Given the description of an element on the screen output the (x, y) to click on. 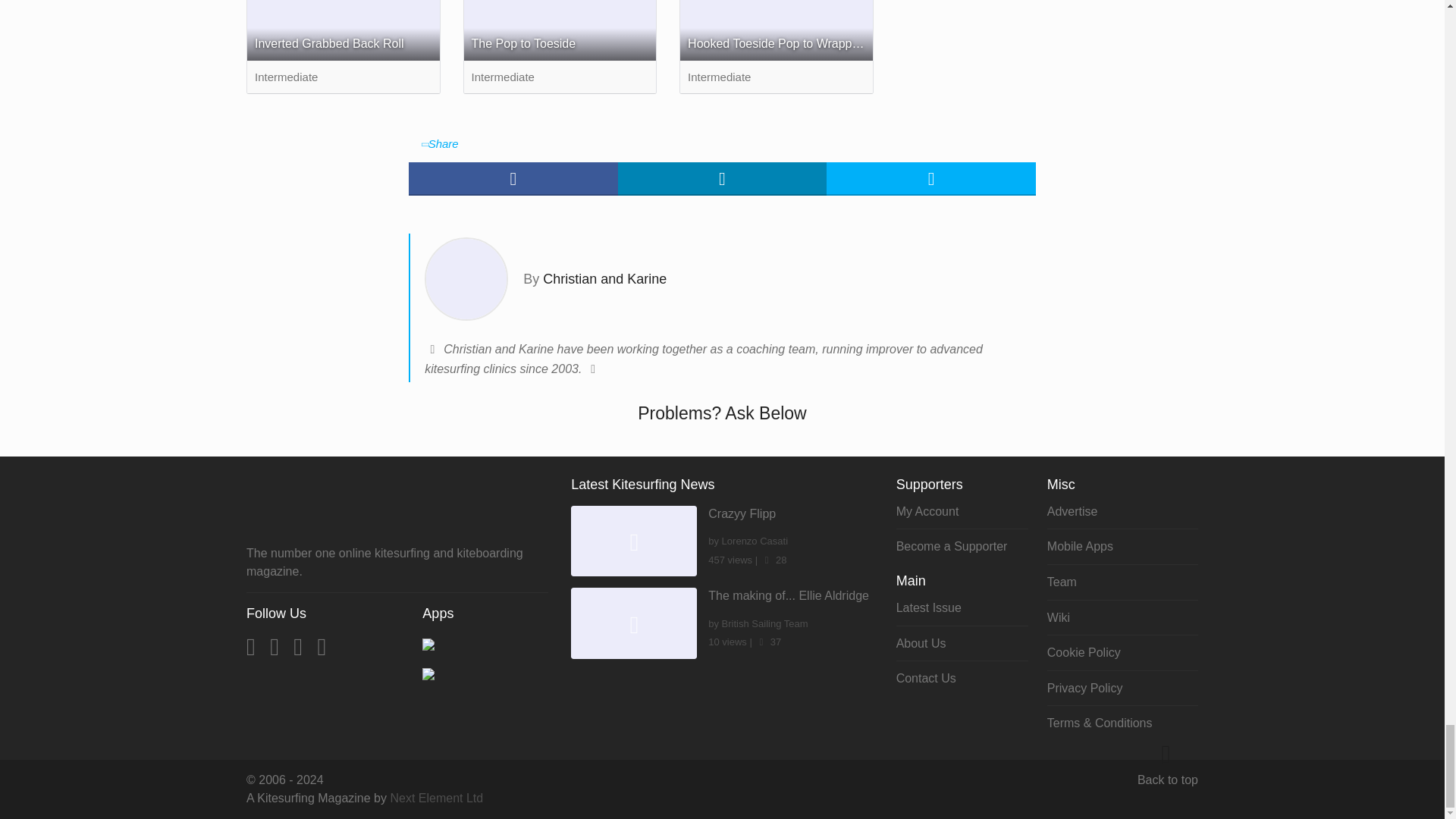
Back to top (1167, 780)
